Given the description of an element on the screen output the (x, y) to click on. 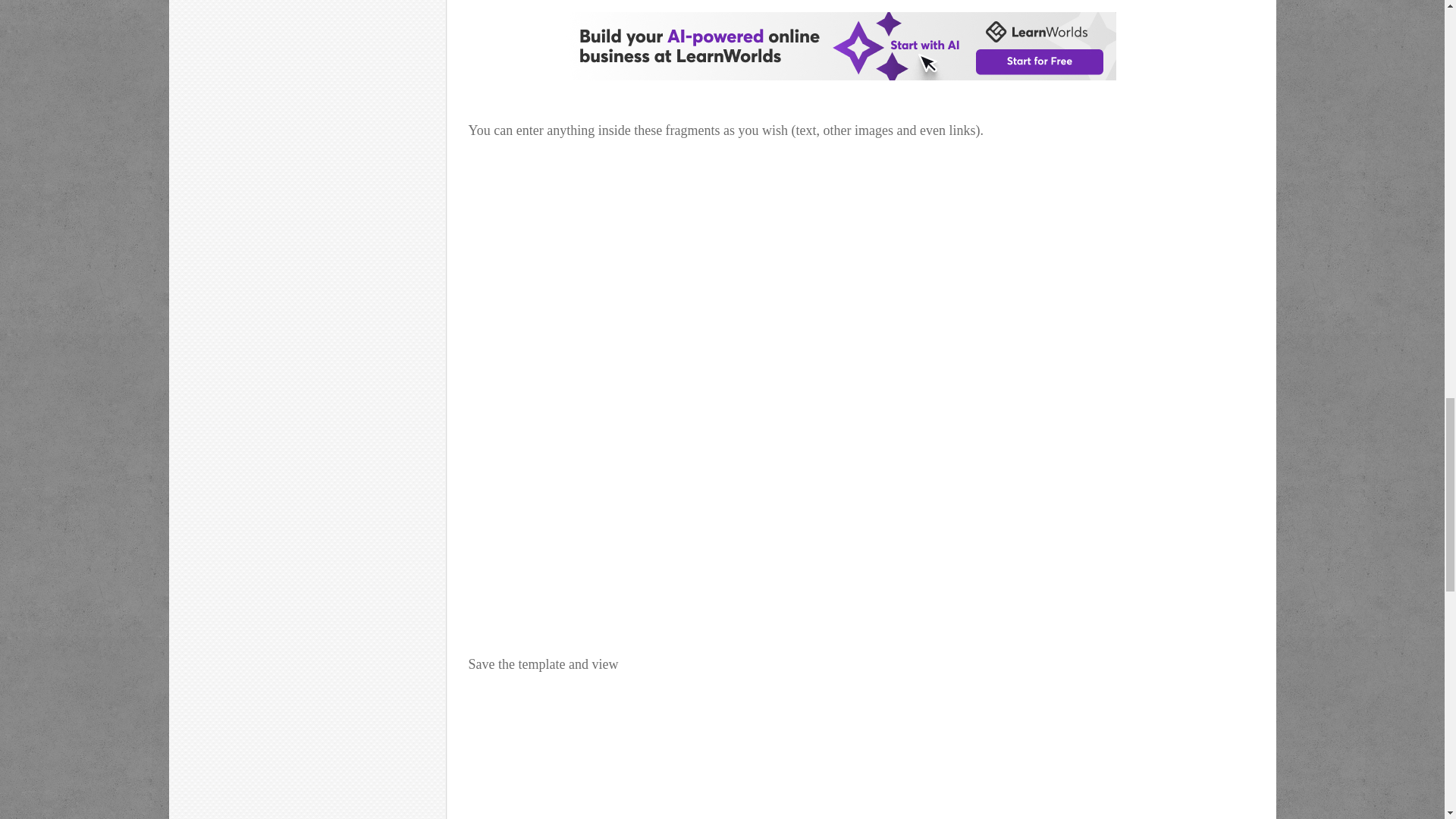
The link shows in the Slideshow (686, 765)
